Given the description of an element on the screen output the (x, y) to click on. 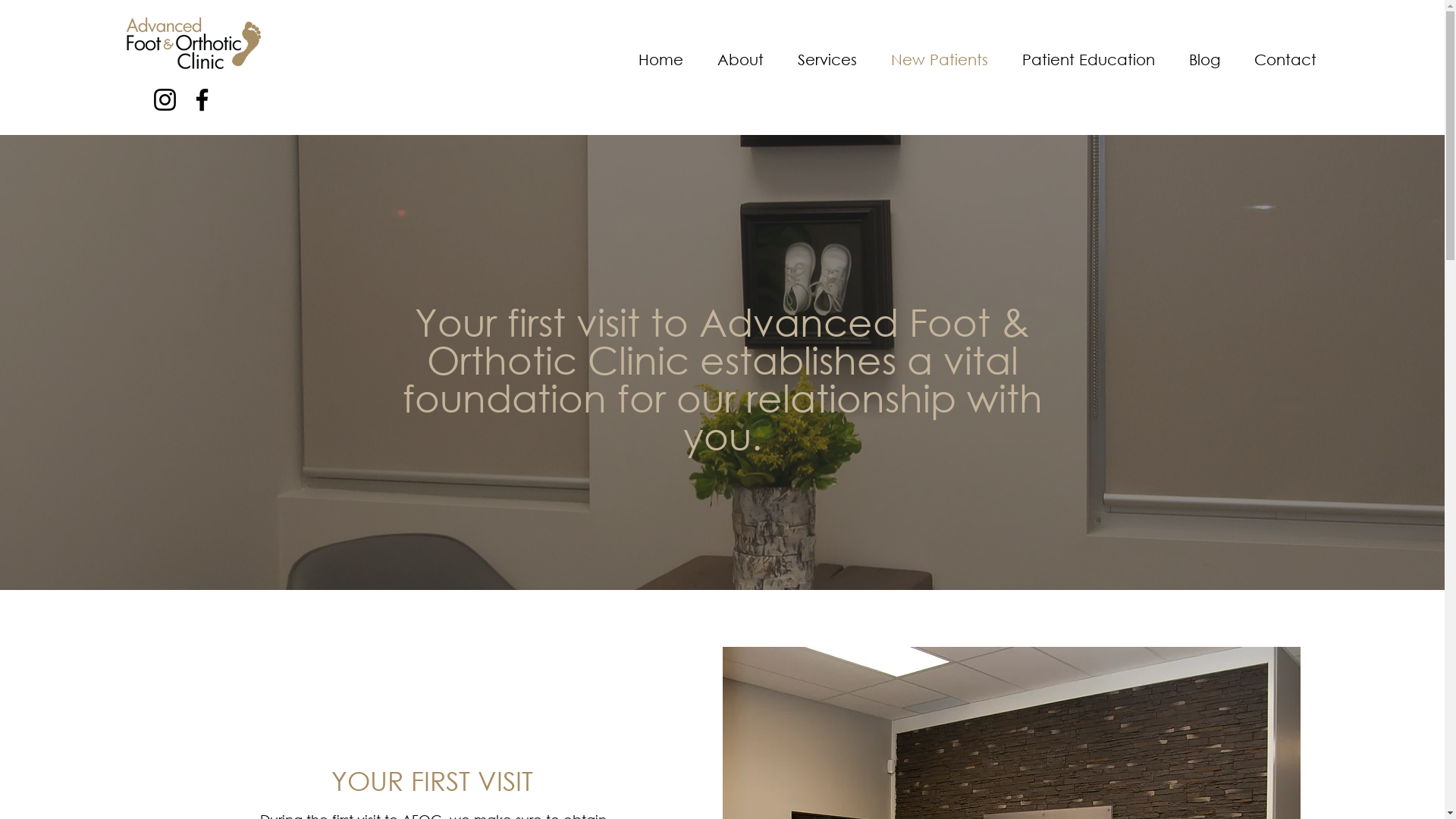
Services Element type: text (827, 59)
Patient Education Element type: text (1088, 59)
About Element type: text (740, 59)
New Patients Element type: text (939, 59)
Contact Element type: text (1285, 59)
Home Element type: text (660, 59)
Blog Element type: text (1204, 59)
